Given the description of an element on the screen output the (x, y) to click on. 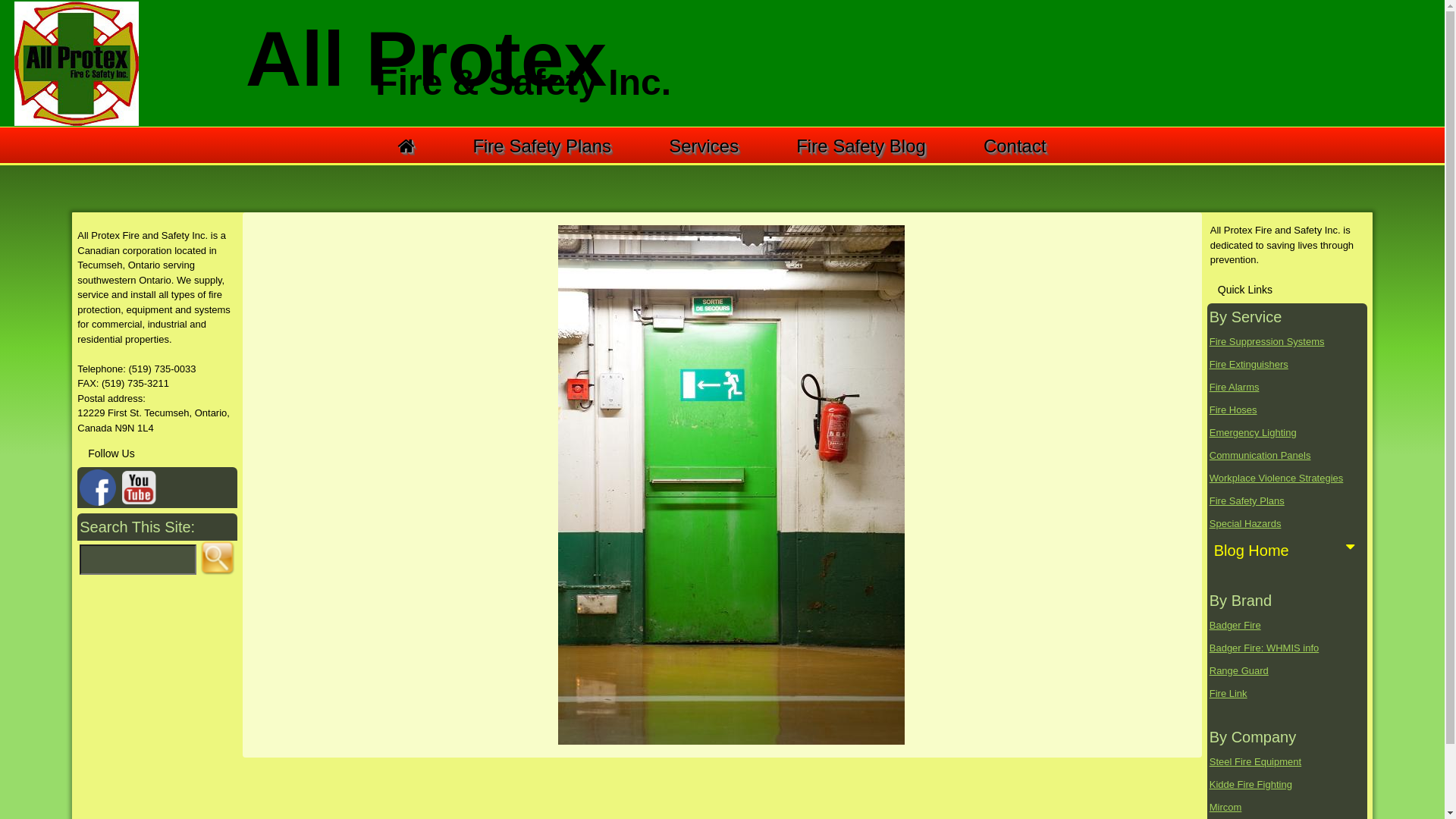
Fire Extinguishers Element type: text (1248, 364)
Badger Fire Element type: text (1235, 624)
Fire Suppression Systems Element type: text (1266, 341)
Services Element type: text (703, 145)
Steel Fire Equipment Element type: text (1255, 761)
Emergency Lighting Element type: text (1252, 432)
Fire Link Element type: text (1228, 693)
Workplace Violence Strategies Element type: text (1276, 477)
Fire Alarms Element type: text (1234, 386)
Blog Home Element type: text (1287, 550)
Communication Panels Element type: text (1260, 455)
Badger Fire: WHMIS info Element type: text (1264, 647)
Fire Hoses Element type: text (1233, 409)
Special Hazards Element type: text (1245, 523)
Fire Safety Plans Element type: text (1246, 500)
Fire Safety Blog Element type: text (860, 145)
Mircom Element type: text (1225, 806)
Fire Safety Plans Element type: text (541, 145)
Contact Element type: text (1014, 145)
Range Guard Element type: text (1238, 670)
Kidde Fire Fighting Element type: text (1250, 784)
